Given the description of an element on the screen output the (x, y) to click on. 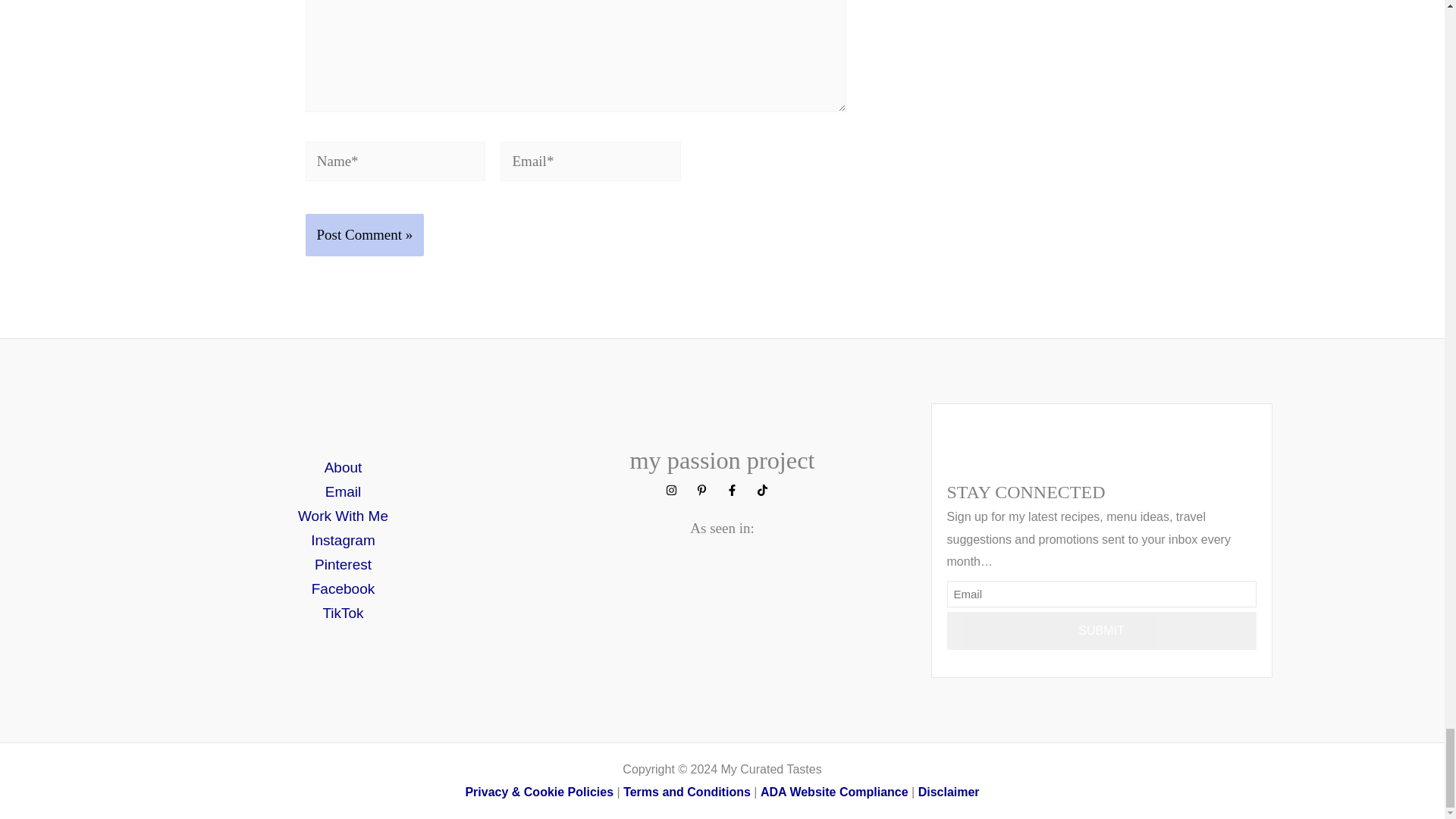
Submit (1100, 630)
My Curated Tastes (834, 791)
My Curated Tastes (687, 791)
My Curated Tastes (538, 791)
My Curated Tastes (948, 791)
